Given the description of an element on the screen output the (x, y) to click on. 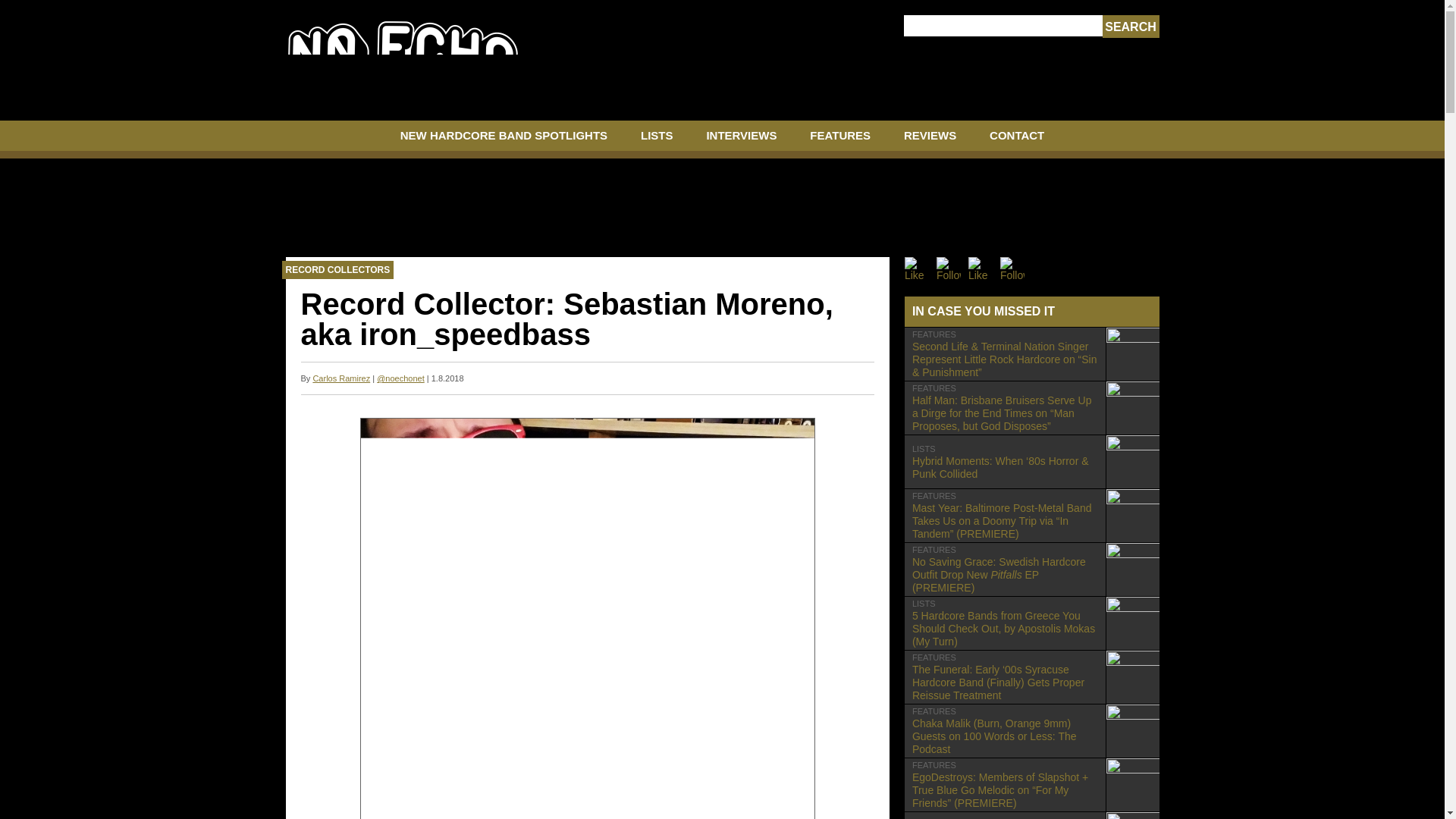
Carlos Ramirez (341, 378)
NEW HARDCORE BAND SPOTLIGHTS (504, 139)
Search (1130, 26)
INTERVIEWS (741, 139)
FEATURES (839, 139)
LISTS (657, 139)
REVIEWS (929, 139)
Search (1130, 26)
CONTACT (1016, 139)
